Given the description of an element on the screen output the (x, y) to click on. 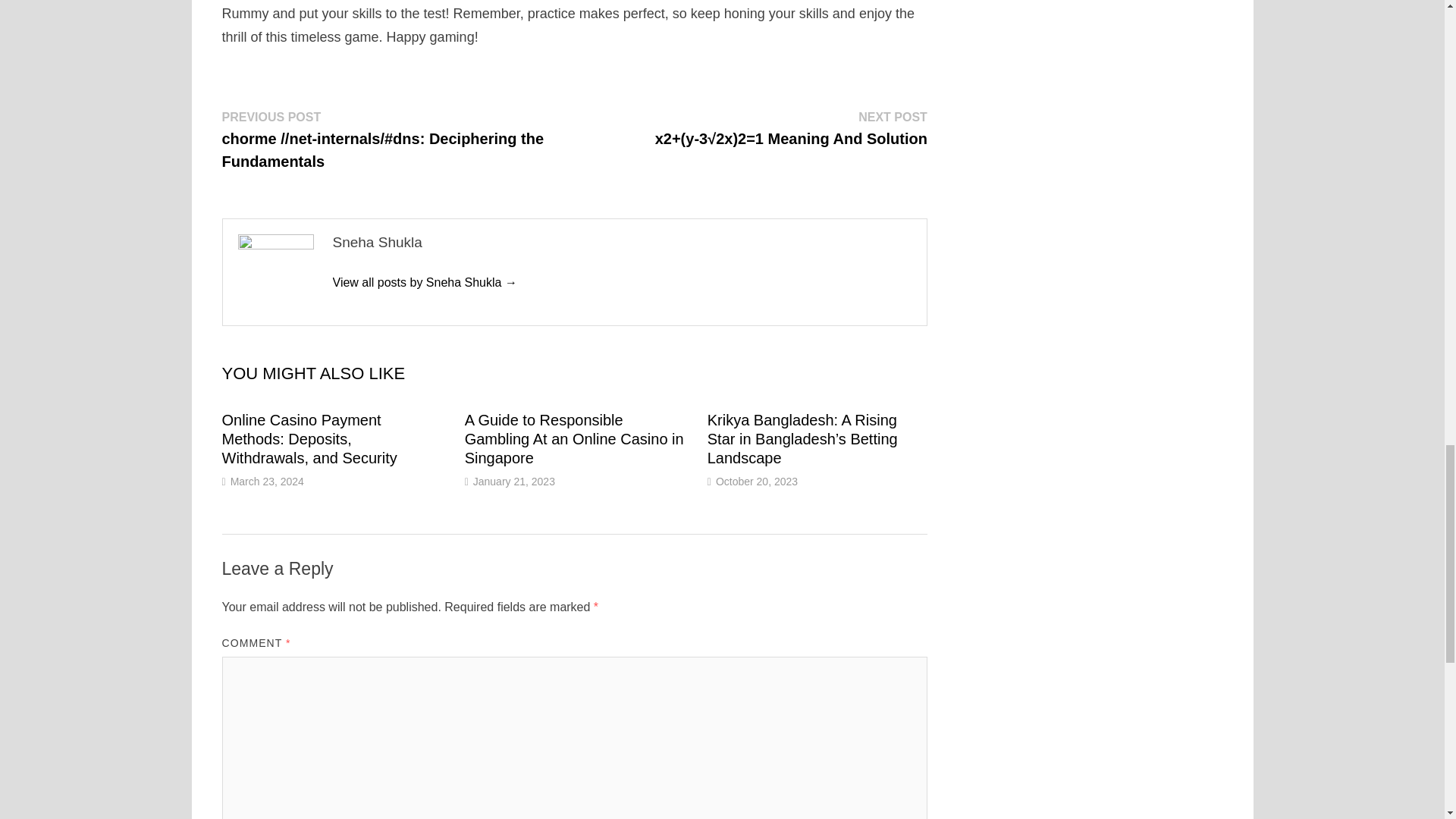
March 23, 2024 (267, 481)
Sneha Shukla (423, 282)
January 21, 2023 (513, 481)
